Given the description of an element on the screen output the (x, y) to click on. 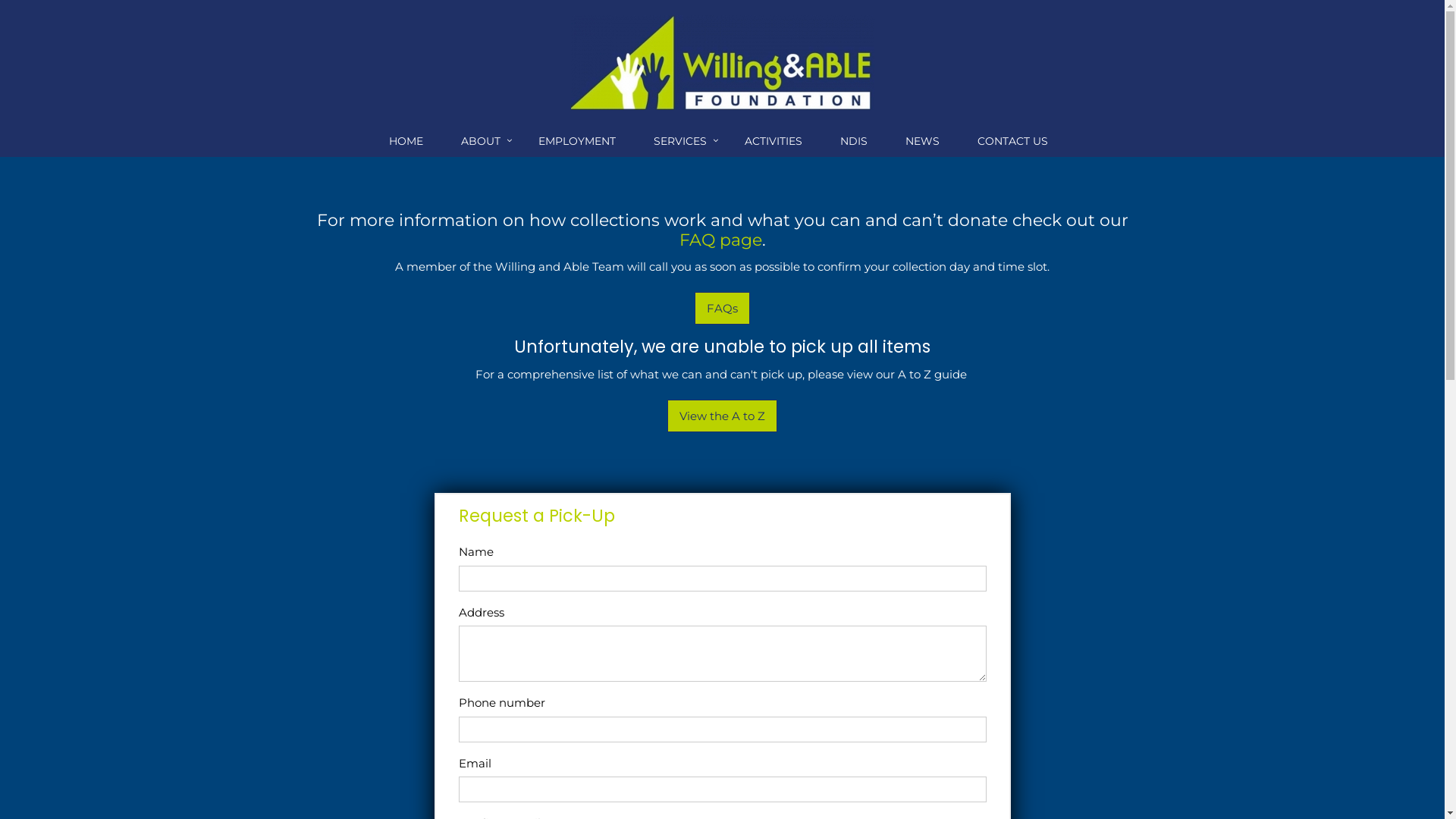
View the A to Z Element type: text (722, 415)
EMPLOYMENT Element type: text (580, 141)
SERVICES Element type: text (683, 141)
FAQs Element type: text (721, 307)
NEWS Element type: text (926, 141)
NDIS Element type: text (857, 141)
CONTACT US Element type: text (1016, 141)
ACTIVITIES Element type: text (777, 141)
HOME Element type: text (409, 141)
FAQ page Element type: text (720, 239)
ABOUT Element type: text (484, 141)
